Given the description of an element on the screen output the (x, y) to click on. 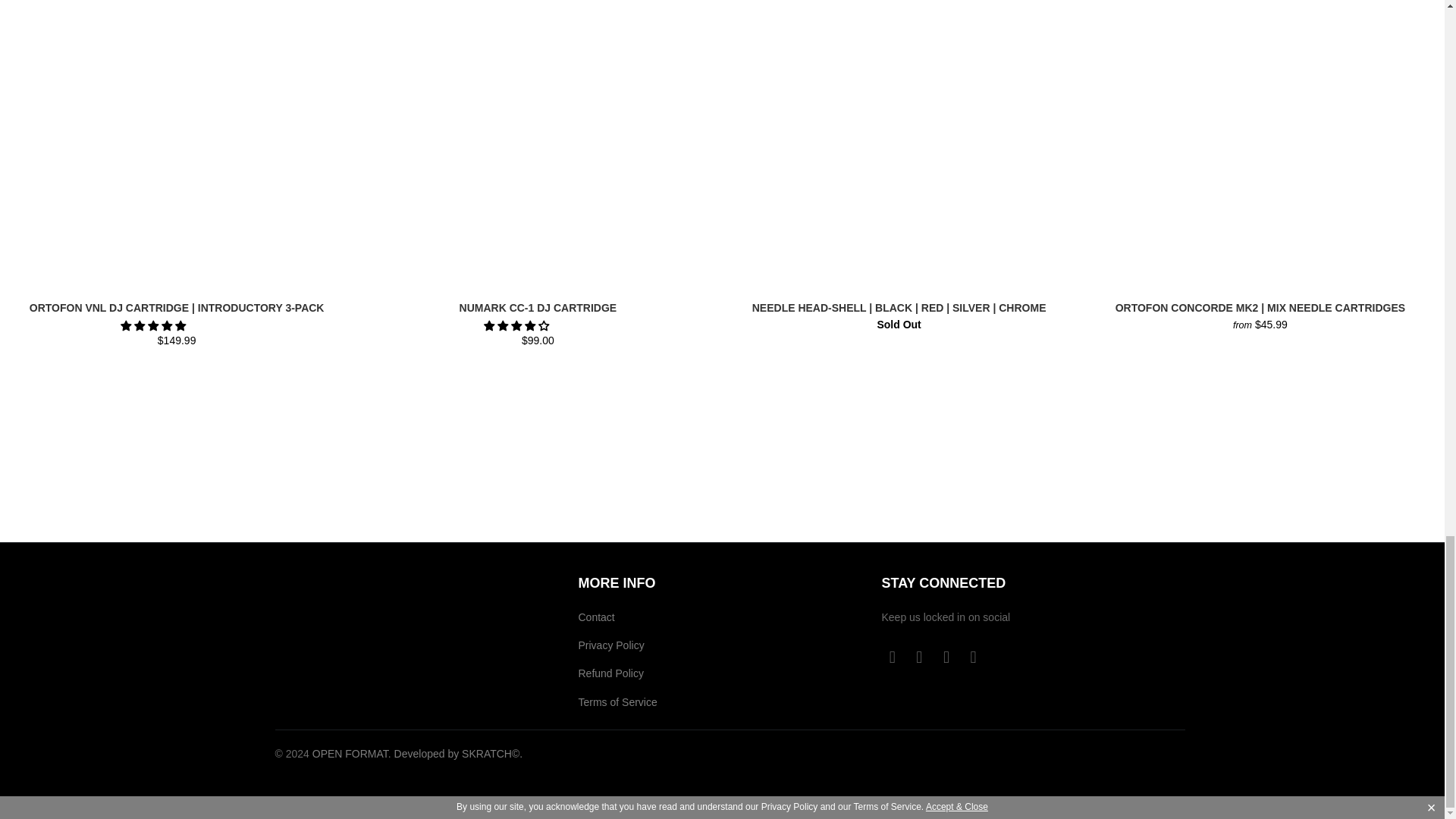
OPEN FORMAT on Instagram (947, 657)
OPEN FORMAT on Facebook (892, 657)
Email OPEN FORMAT (973, 657)
OPEN FORMAT on YouTube (919, 657)
